Given the description of an element on the screen output the (x, y) to click on. 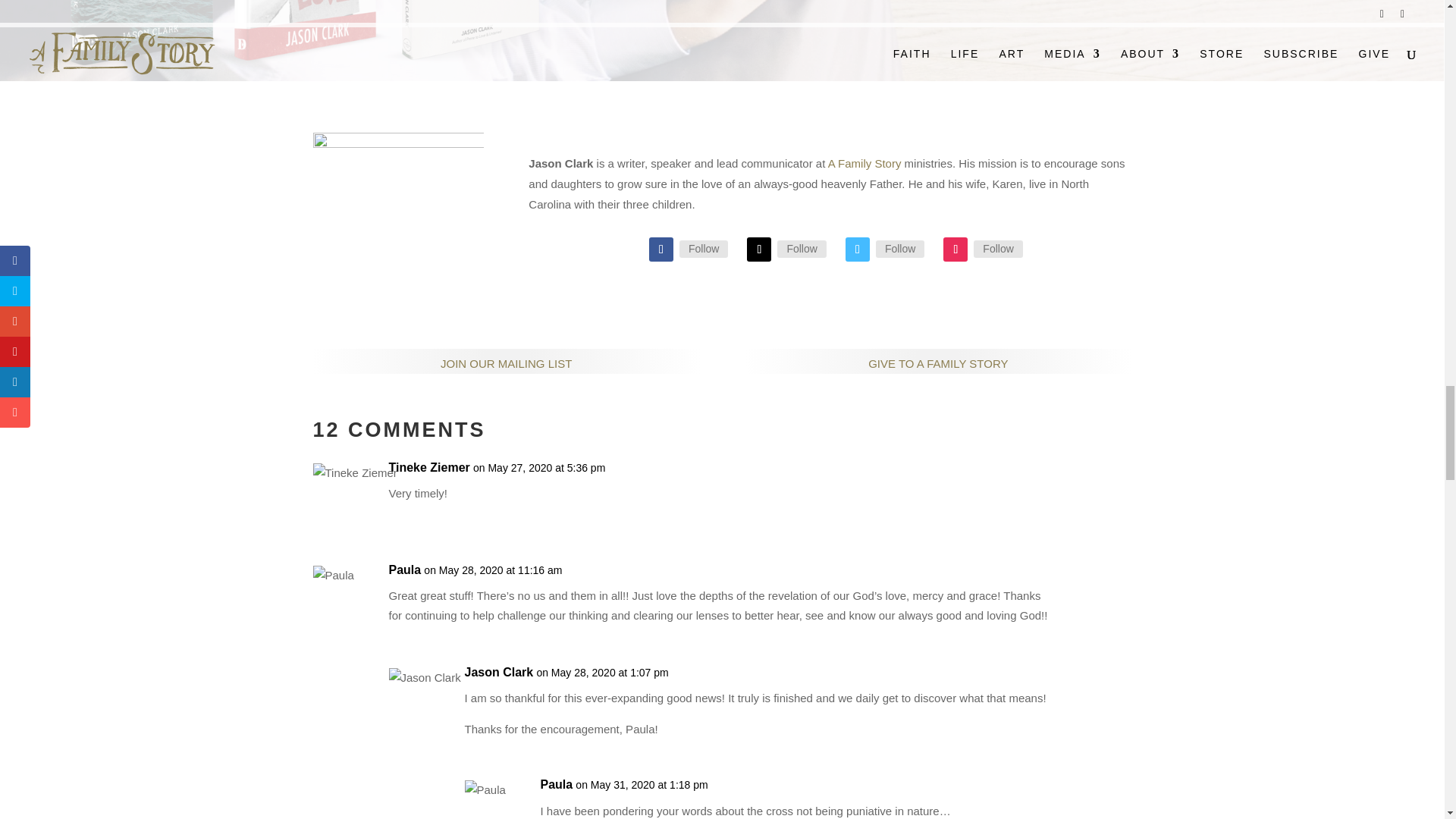
Follow (703, 248)
Vimeo (900, 248)
Follow (801, 248)
X (801, 248)
Follow on Instagram (955, 249)
Follow (900, 248)
Facebook (703, 248)
Follow on Facebook (660, 249)
Follow on Vimeo (857, 249)
Reply (1116, 473)
